Given the description of an element on the screen output the (x, y) to click on. 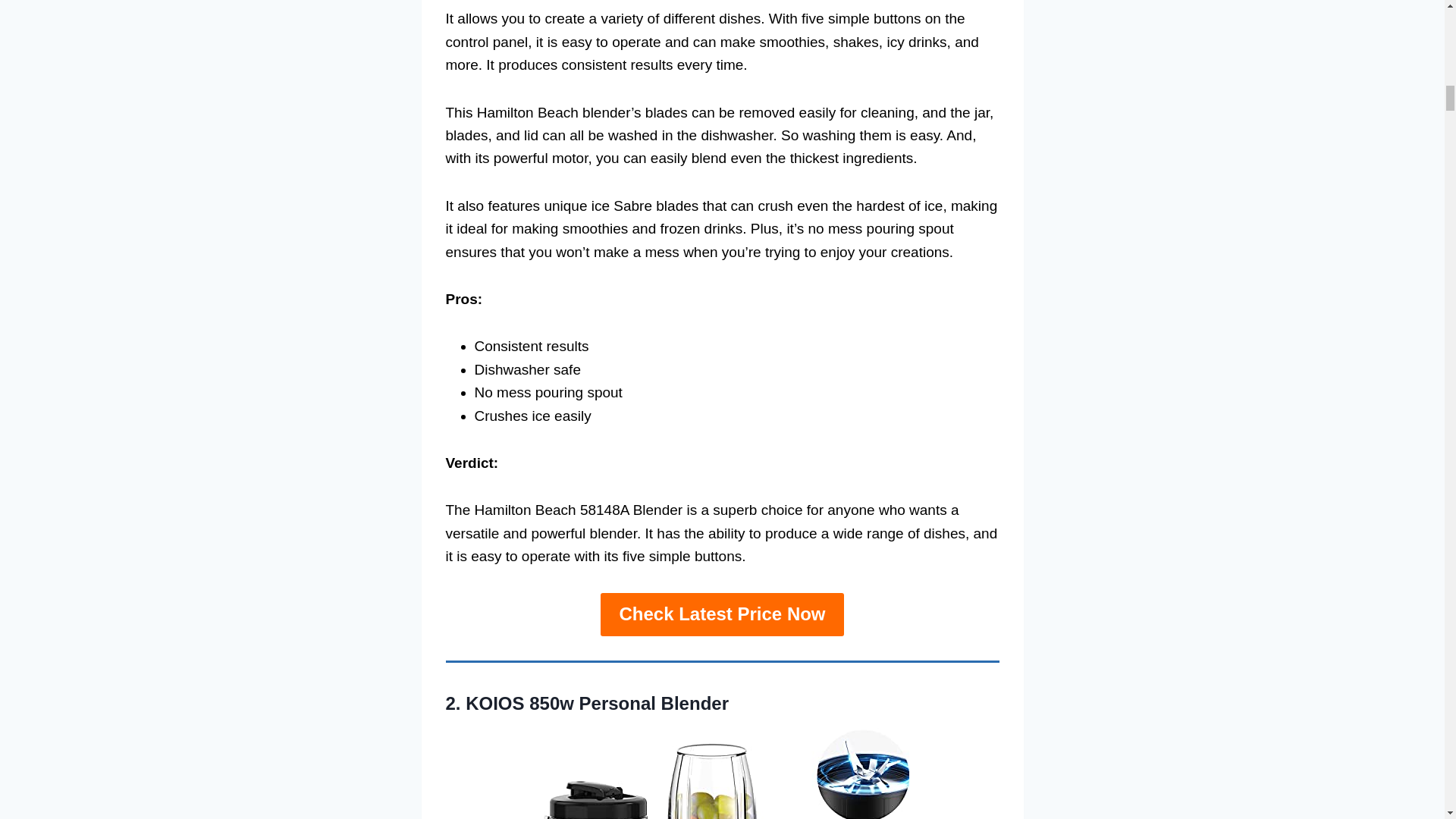
Check Latest Price Now (721, 614)
